Given the description of an element on the screen output the (x, y) to click on. 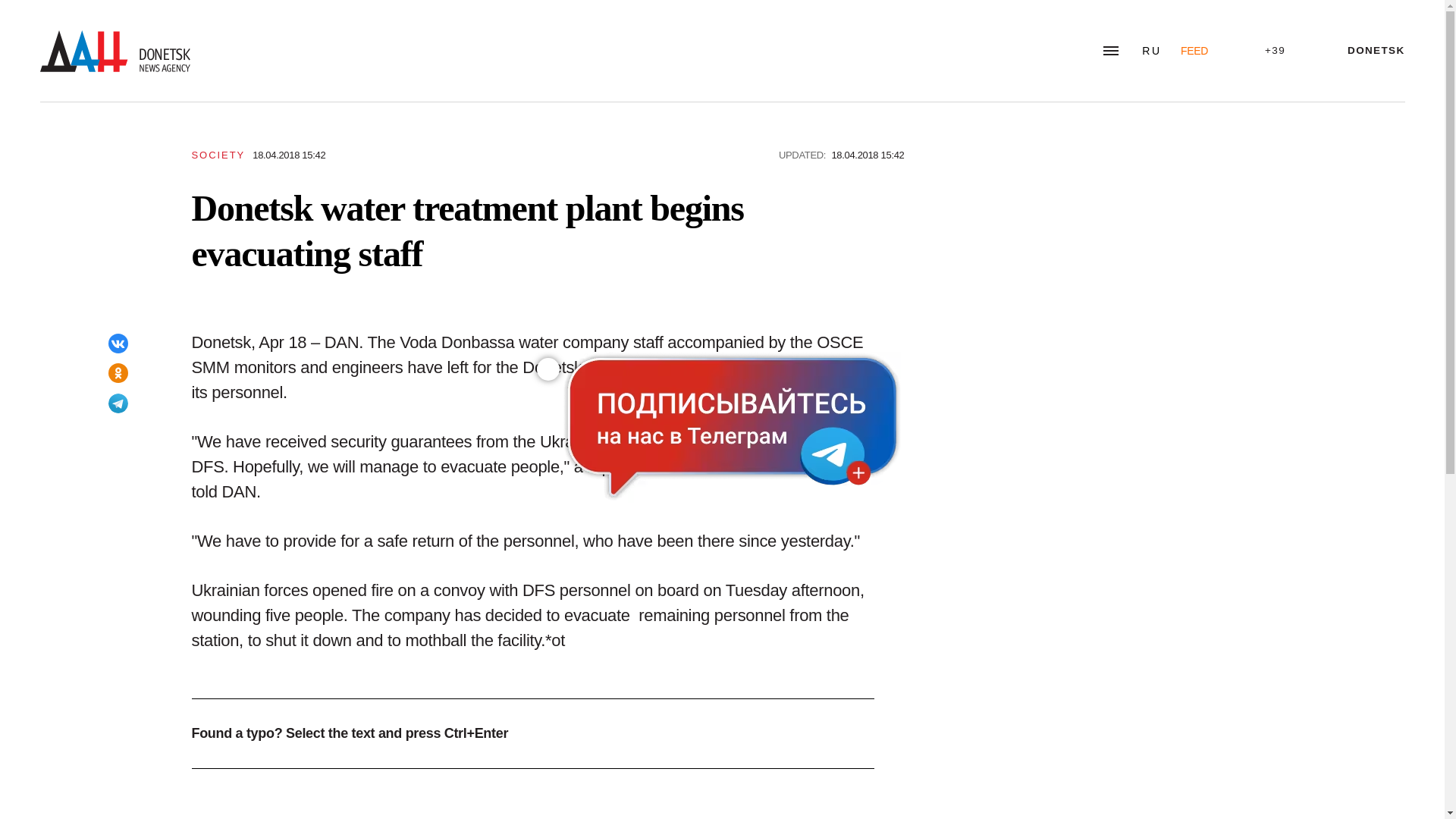
Russian (1151, 50)
News feed (1194, 50)
Odnoklassniki (117, 373)
FEED (1194, 50)
RU (1151, 50)
Telegram (117, 403)
VKontakte (117, 342)
SOCIETY (217, 154)
